Given the description of an element on the screen output the (x, y) to click on. 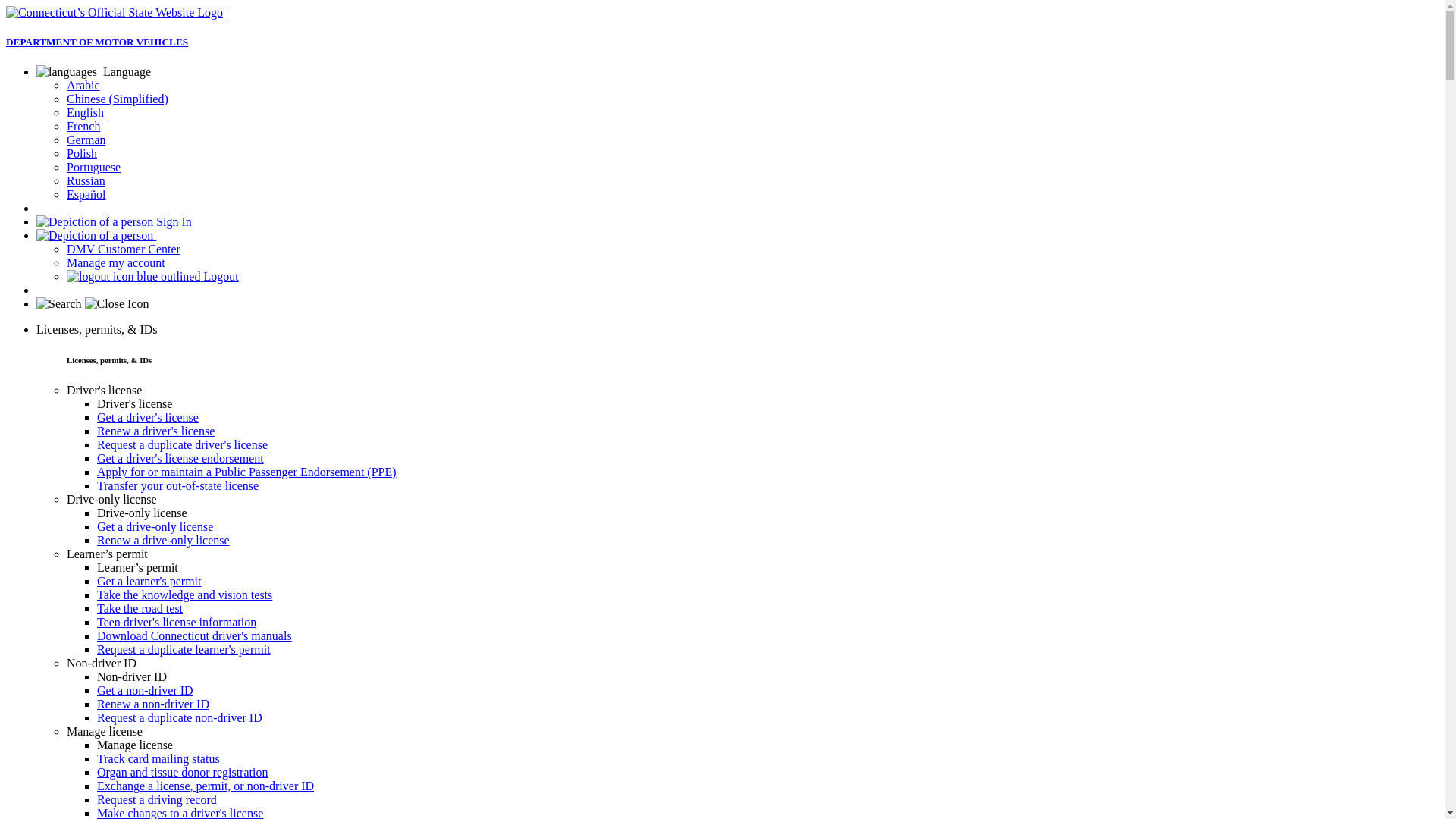
Download Connecticut driver's manuals Element type: text (194, 635)
Arabic Element type: text (83, 84)
Russian Element type: text (85, 180)
Polish Element type: text (81, 153)
Chinese (Simplified) Element type: text (117, 98)
Organ and tissue donor registration Element type: text (182, 771)
Transfer your out-of-state license Element type: text (177, 485)
Sign In Element type: text (113, 221)
Get a driver's license endorsement Element type: text (180, 457)
Request a driving record Element type: text (156, 799)
Get a driver's license Element type: text (147, 417)
Request a duplicate learner's permit Element type: text (183, 649)
English Element type: text (84, 112)
Renew a drive-only license Element type: text (163, 539)
Request a duplicate non-driver ID Element type: text (179, 717)
Take the road test Element type: text (139, 608)
Manage my account Element type: text (115, 262)
Renew a driver's license Element type: text (155, 430)
Logout Element type: text (152, 275)
DMV Customer Center Element type: text (123, 248)
Apply for or maintain a Public Passenger Endorsement (PPE) Element type: text (246, 471)
Track card mailing status Element type: text (158, 758)
Teen driver's license information Element type: text (176, 621)
Take the knowledge and vision tests Element type: text (184, 594)
French Element type: text (83, 125)
Get a learner's permit Element type: text (148, 580)
Get a drive-only license Element type: text (155, 526)
Renew a non-driver ID Element type: text (153, 703)
Exchange a license, permit, or non-driver ID Element type: text (205, 785)
German Element type: text (86, 139)
DEPARTMENT OF MOTOR VEHICLES Element type: text (722, 57)
Request a duplicate driver's license Element type: text (182, 444)
Portuguese Element type: text (93, 166)
Get a non-driver ID Element type: text (145, 690)
